Given the description of an element on the screen output the (x, y) to click on. 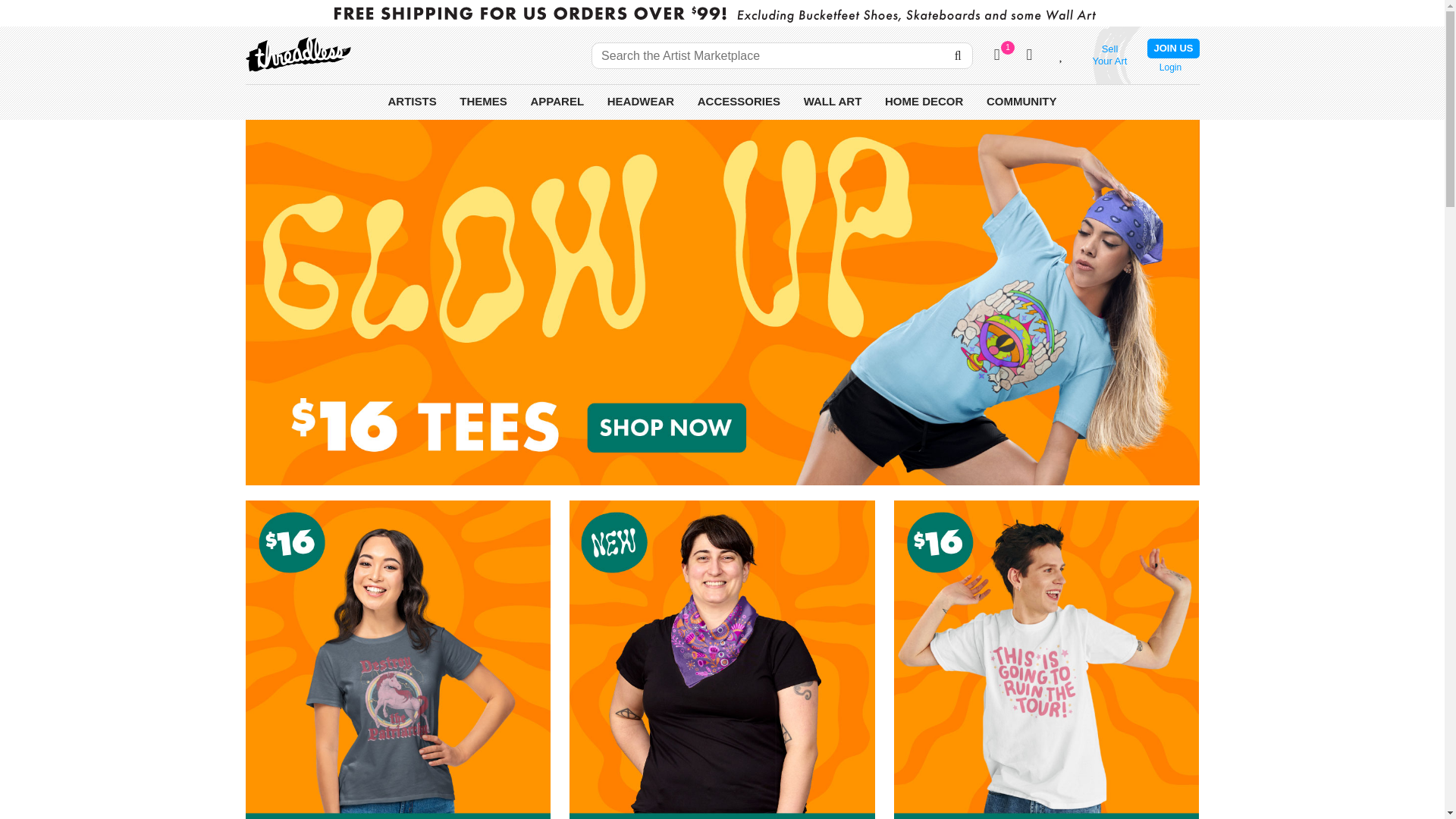
JOIN US (1109, 55)
ARTISTS (1172, 48)
SEARCH THREADLESS (411, 100)
Shop a global community of independent artists (957, 55)
1 (411, 100)
THEMES (996, 54)
Sign in with Google (482, 100)
Login to your Threadless account (1215, 79)
Login (1169, 67)
Join Threadless (1169, 67)
